Given the description of an element on the screen output the (x, y) to click on. 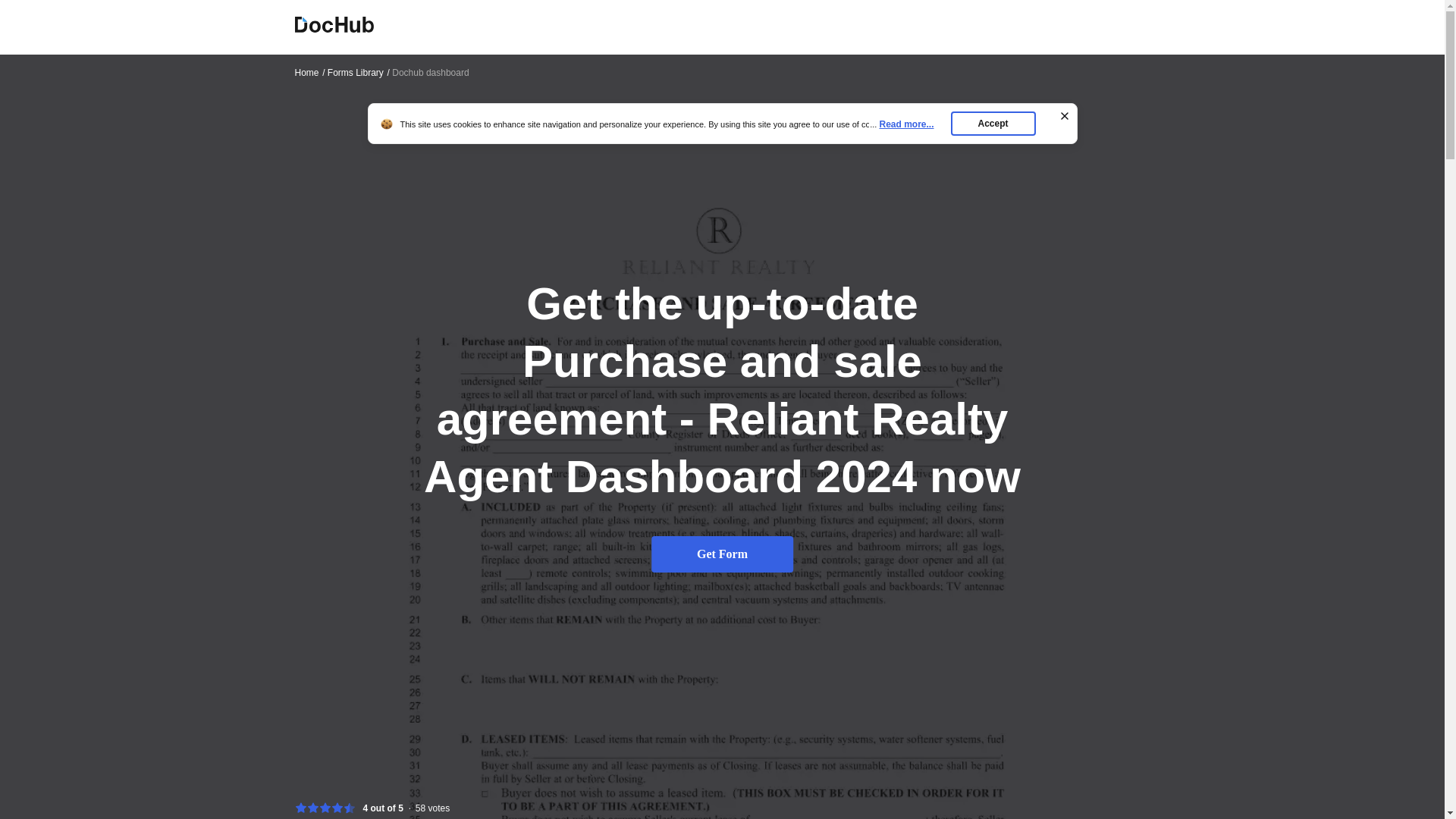
Forms Library (358, 72)
Home (309, 72)
